Given the description of an element on the screen output the (x, y) to click on. 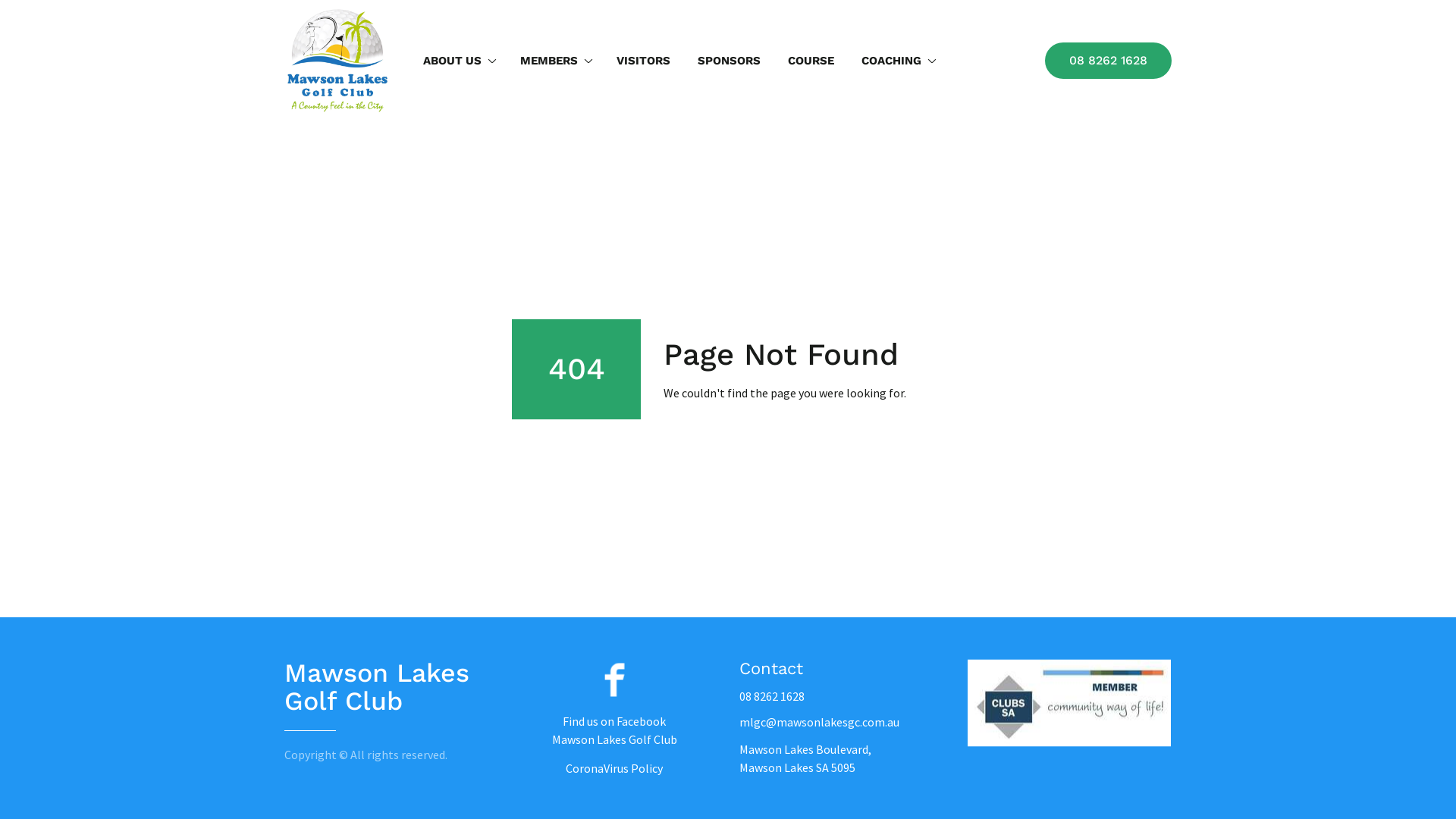
08 8262 1628 Element type: text (1107, 60)
SPONSORS Element type: text (728, 60)
08 8262 1628 Element type: text (771, 696)
MEMBERS Element type: text (554, 60)
mlgc@mawsonlakesgc.com.au Element type: text (819, 722)
COACHING Element type: text (896, 60)
ABOUT US Element type: text (457, 60)
VISITORS Element type: text (643, 60)
COURSE Element type: text (811, 60)
